Given the description of an element on the screen output the (x, y) to click on. 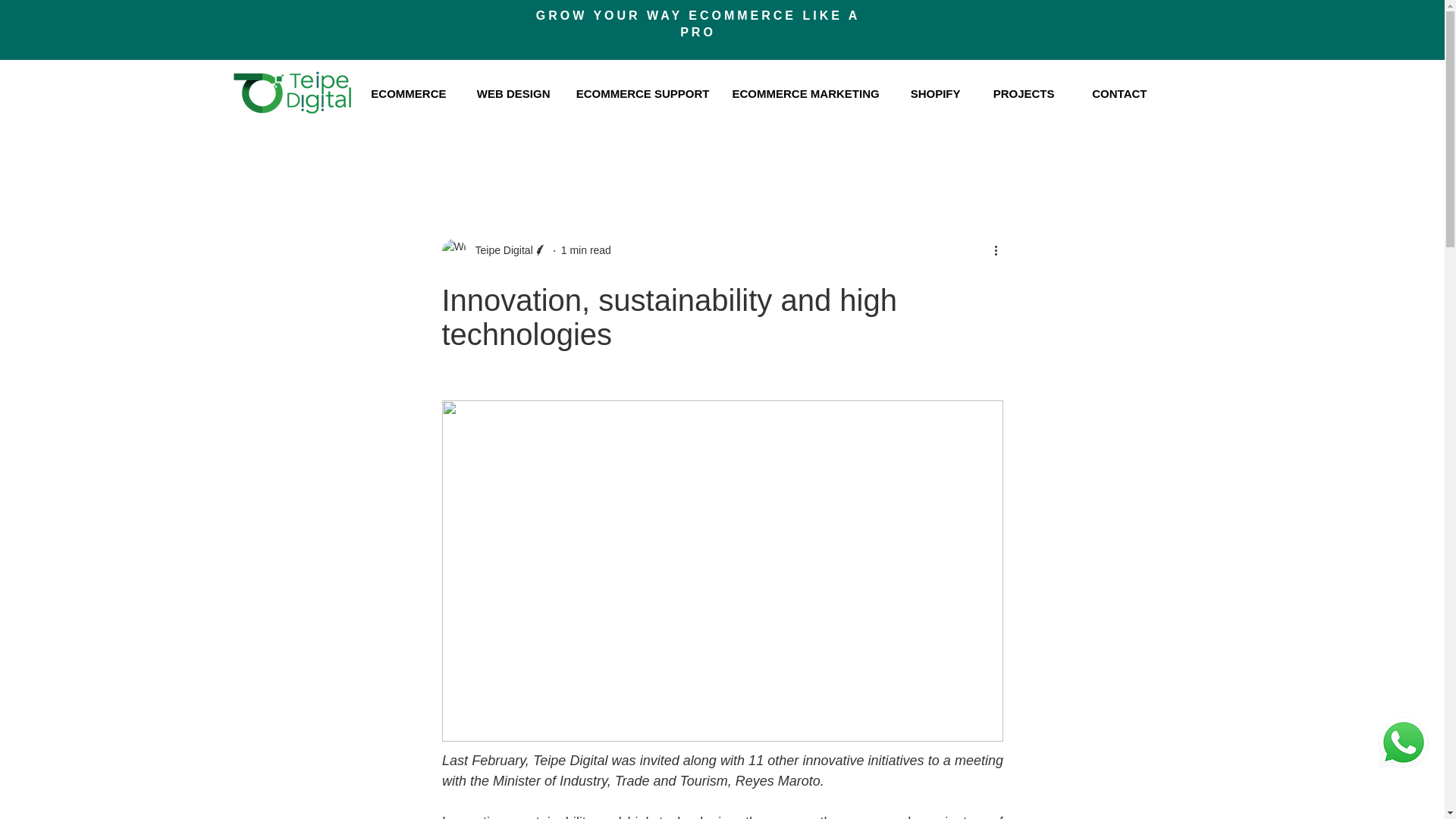
CONTACT (1111, 94)
PROJECTS (1018, 94)
Teipe Digital (498, 250)
ECOMMERCE (404, 94)
Teipe Digital (494, 250)
ECOMMERCE MARKETING (804, 94)
ECOMMERCE SUPPORT (640, 94)
WEB DESIGN (510, 94)
1 min read (585, 250)
SHOPIFY (929, 94)
